Given the description of an element on the screen output the (x, y) to click on. 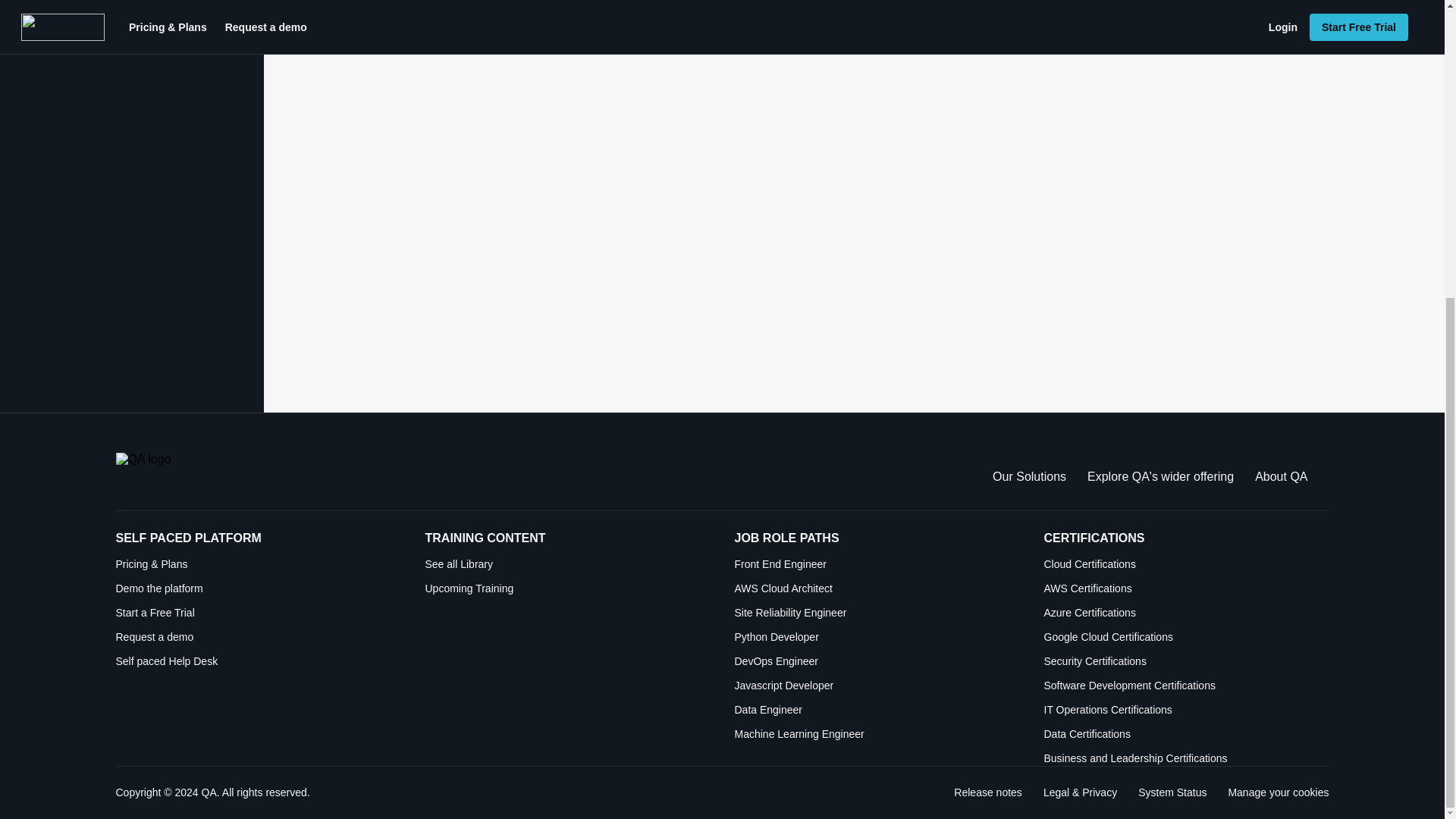
Release notes (987, 792)
Data Engineer (876, 709)
Upcoming Training (567, 588)
Azure Certifications (1185, 612)
Security Certifications (1185, 661)
IT Operations Certifications (1185, 709)
See all Library (567, 563)
Software Development Certifications (1185, 685)
Manage your cookies (1277, 792)
Our Solutions (1028, 476)
